Given the description of an element on the screen output the (x, y) to click on. 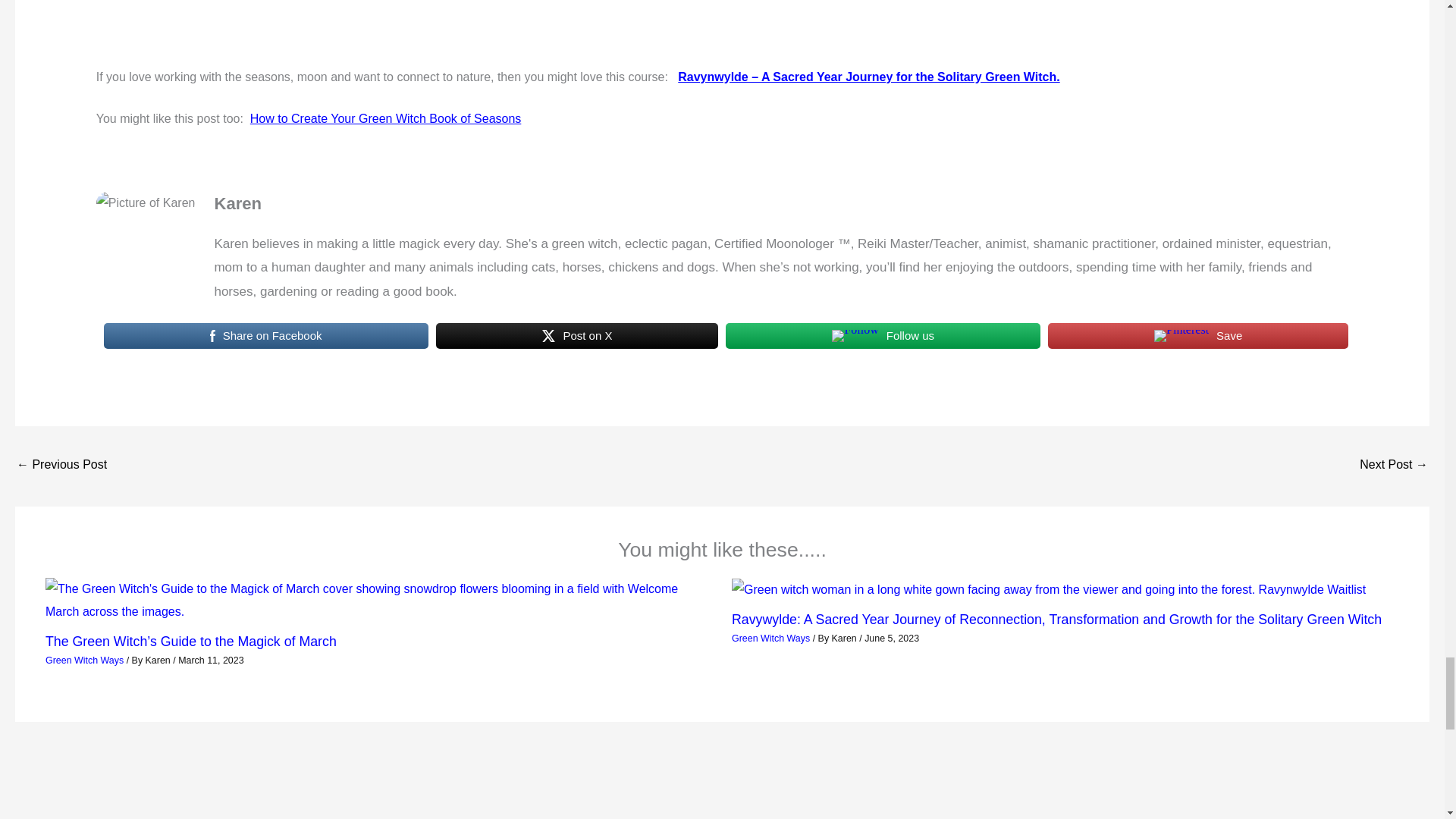
How to Create Your Green Witch Book of Seasons (385, 118)
3 Easy Ways to Connect to Nature 11 (1181, 336)
3 Easy Ways to Connect to Nature 10 (854, 336)
3 Easy Ways to Connect to Nature 9 (548, 336)
3 Easy Ways to Connect to Nature 7 (145, 202)
6 Simple Ways to Celebrate the Spring Equinox (61, 465)
